Given the description of an element on the screen output the (x, y) to click on. 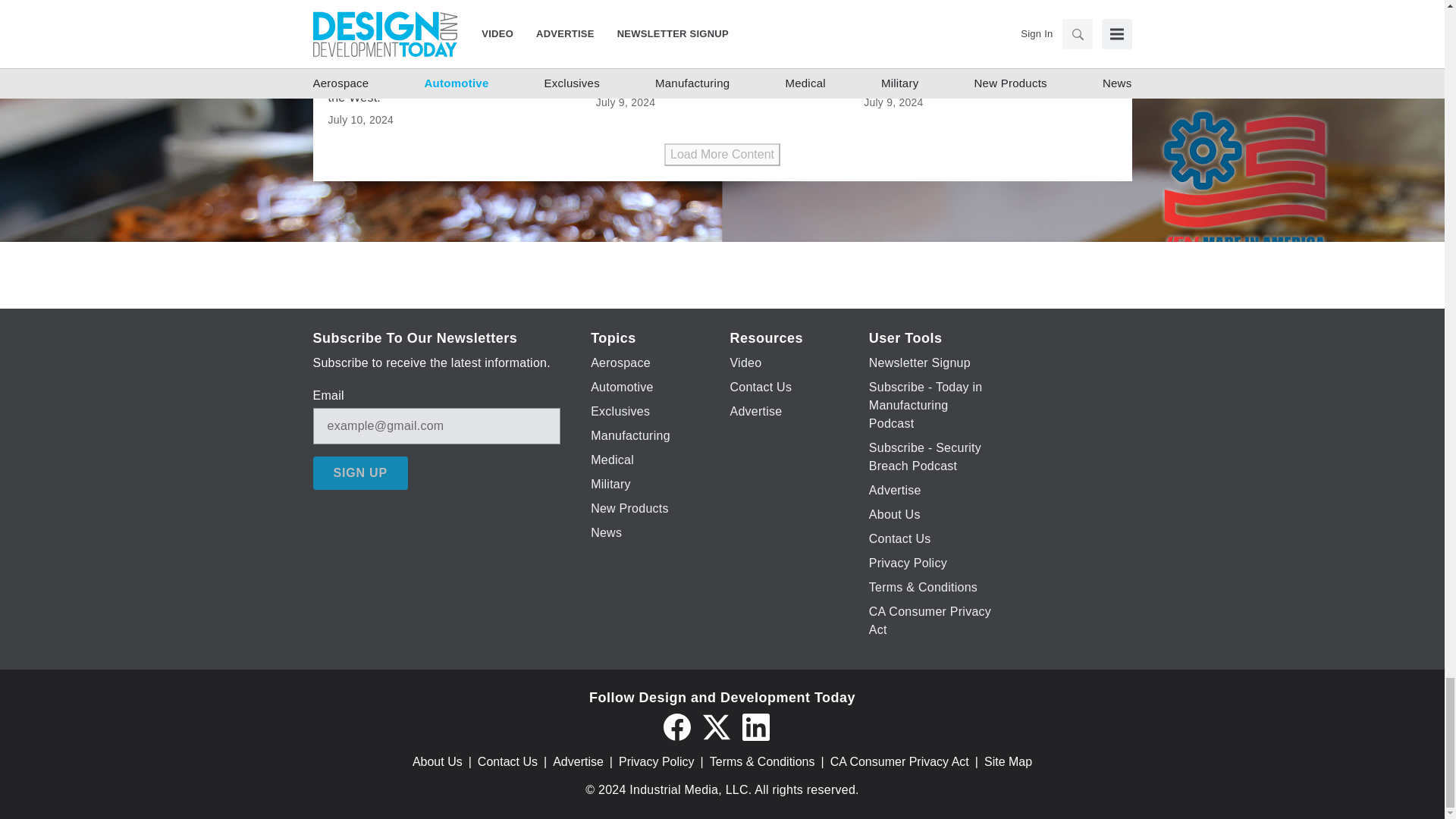
Facebook icon (676, 727)
Twitter X icon (715, 727)
LinkedIn icon (754, 727)
